Given the description of an element on the screen output the (x, y) to click on. 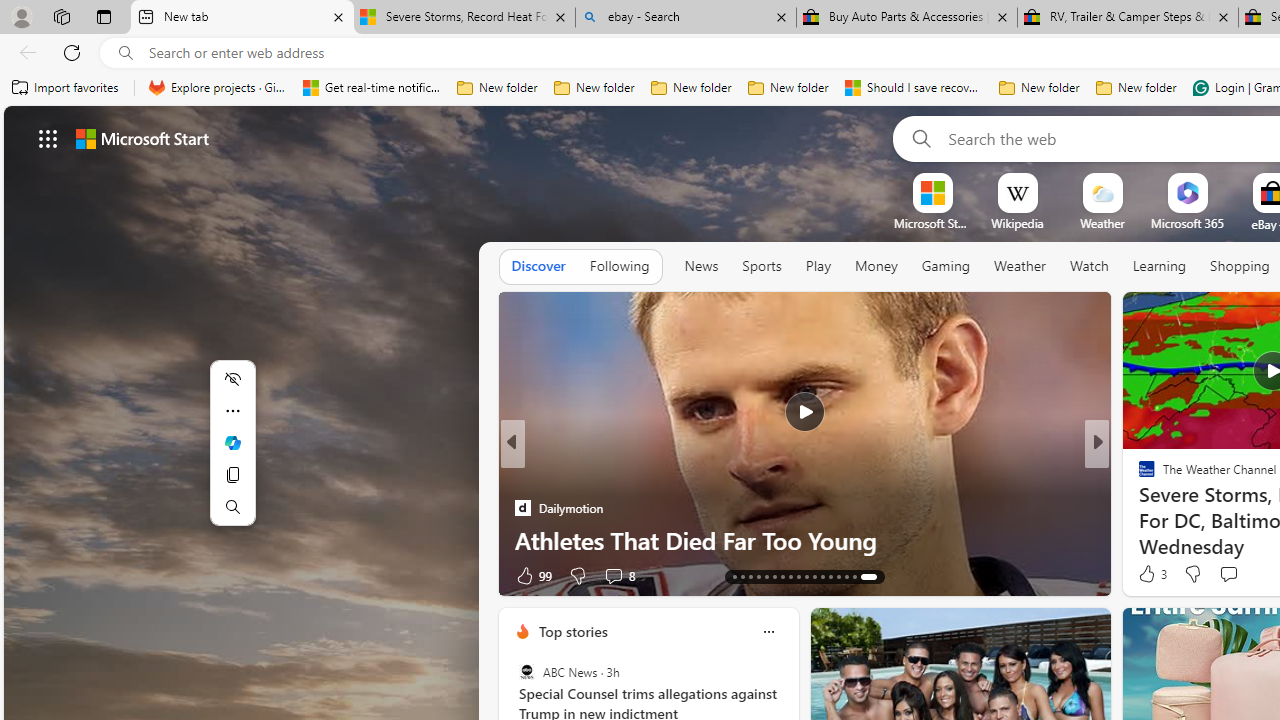
AutomationID: tab-24 (833, 576)
Mini menu on text selection (232, 454)
Simply More Time (1138, 507)
Like (1140, 574)
ABC News (526, 672)
Search icon (125, 53)
Gaming (945, 267)
Weather (1020, 265)
AutomationID: tab-14 (754, 576)
Learning (1159, 265)
138 Like (1151, 574)
